Given the description of an element on the screen output the (x, y) to click on. 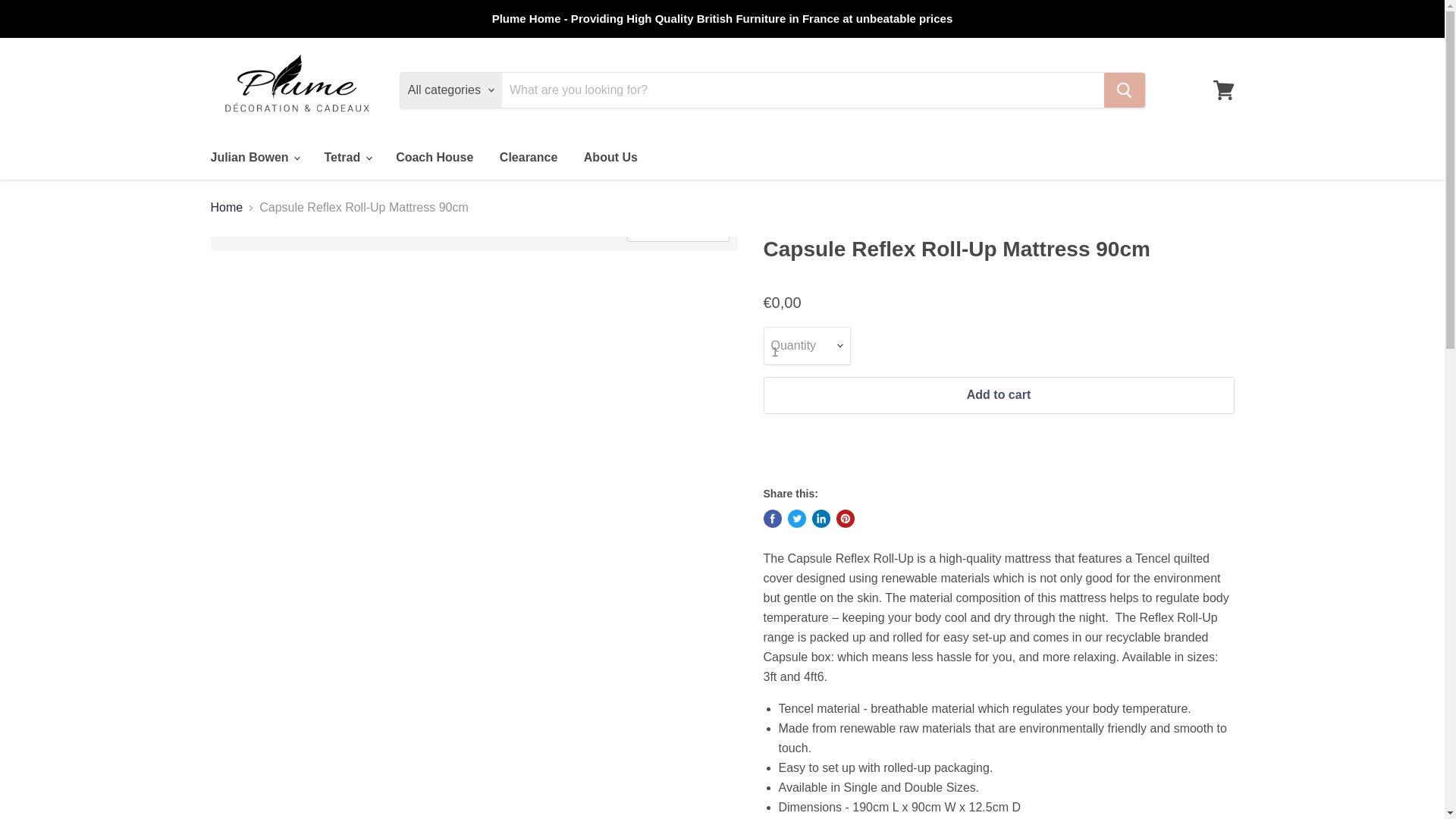
Julian Bowen (253, 157)
View cart (1223, 89)
